Given the description of an element on the screen output the (x, y) to click on. 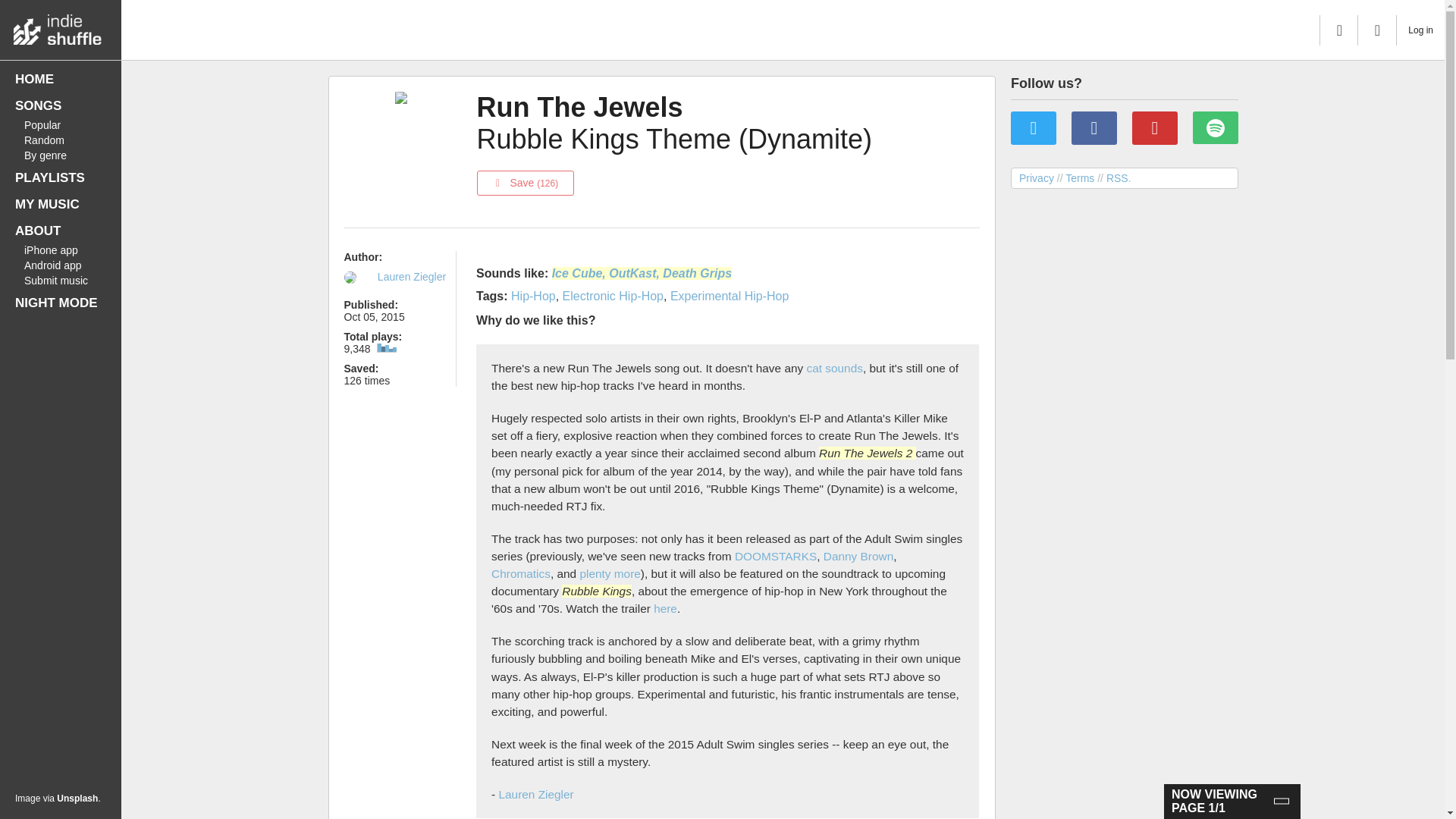
Android app (61, 264)
Random (61, 140)
ABOUT (60, 231)
Lauren Ziegler (535, 793)
Chromatics (521, 573)
OutKast (632, 273)
Popular (61, 124)
Ice Cube (576, 273)
Electronic Hip-Hop (612, 295)
Indie Shuffle Facebook (1093, 128)
DOOMSTARKS (775, 555)
Indie Shuffle Twitter (1032, 128)
Electronic hip-hop Songs (612, 295)
here (665, 608)
Experimental Hip-Hop (729, 295)
